Given the description of an element on the screen output the (x, y) to click on. 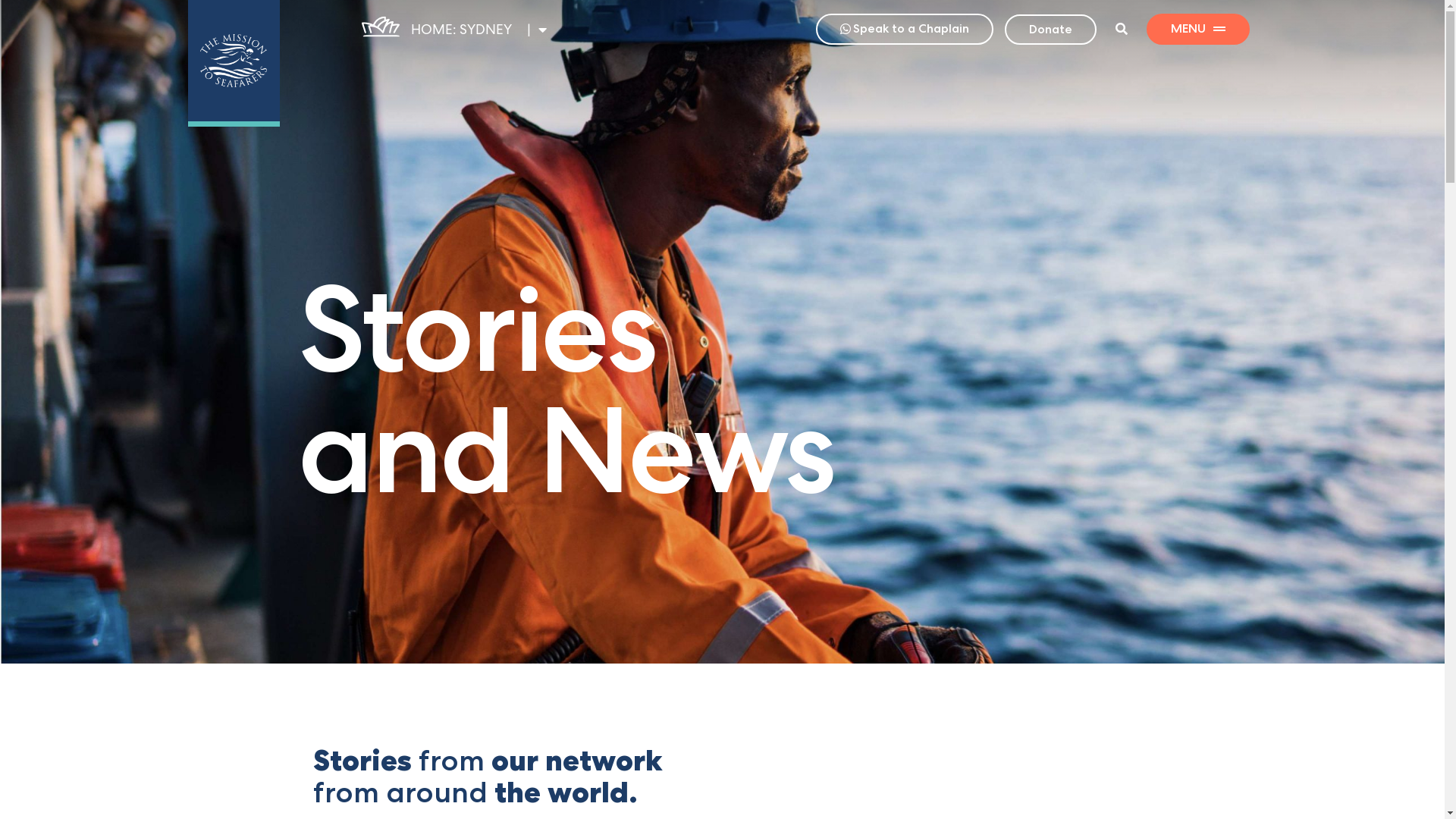
Donate Element type: text (1050, 29)
Speak to a Chaplain Element type: text (904, 28)
MENU Element type: text (1197, 28)
HOME: SYDNEY Element type: text (461, 28)
| Element type: text (536, 29)
